Given the description of an element on the screen output the (x, y) to click on. 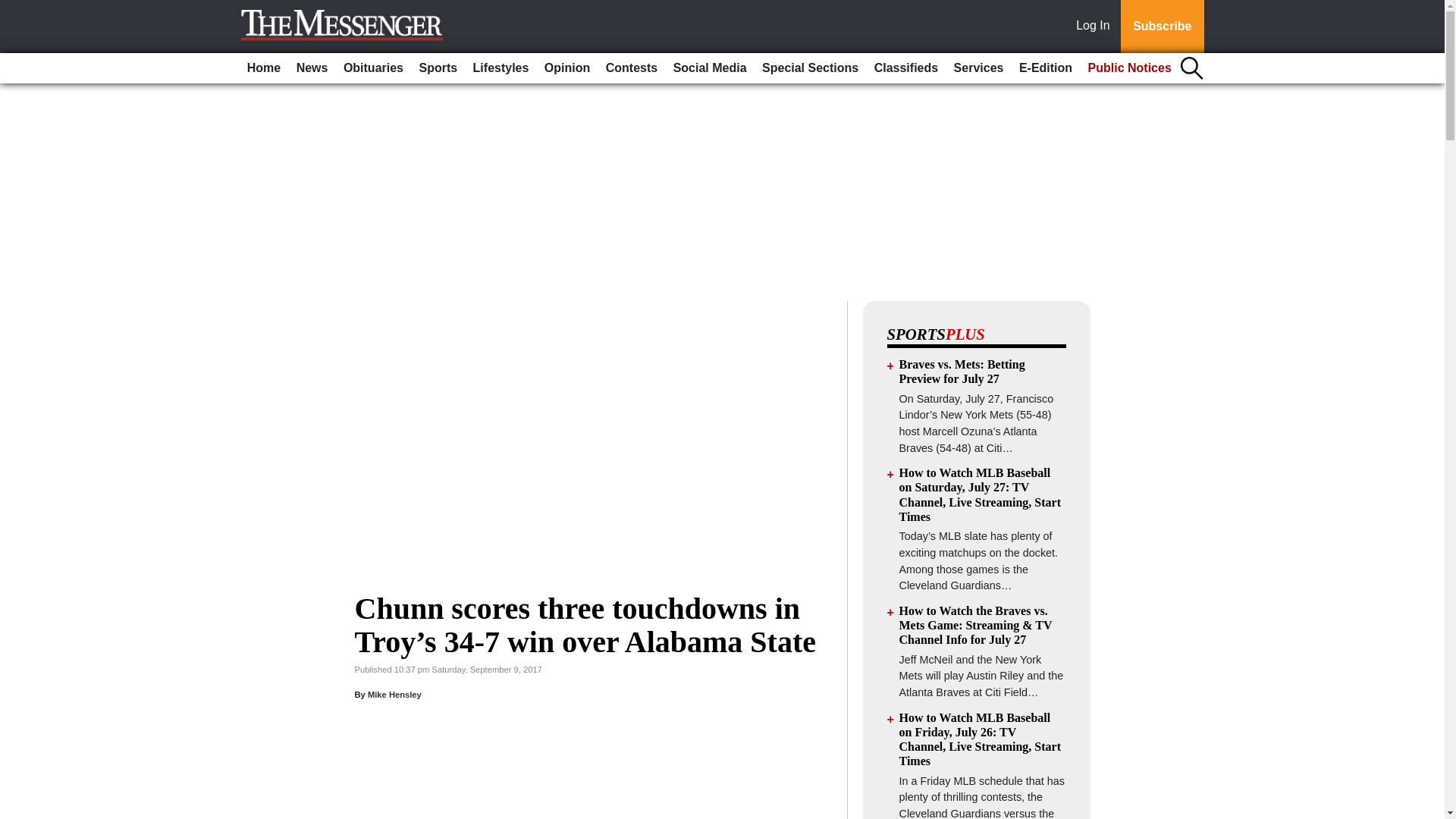
Social Media (709, 68)
Contests (631, 68)
E-Edition (1045, 68)
Opinion (566, 68)
Home (263, 68)
Log In (1095, 26)
Lifestyles (501, 68)
Obituaries (373, 68)
Subscribe (1162, 26)
Sports (437, 68)
Special Sections (809, 68)
News (311, 68)
Classifieds (905, 68)
Services (978, 68)
